Given the description of an element on the screen output the (x, y) to click on. 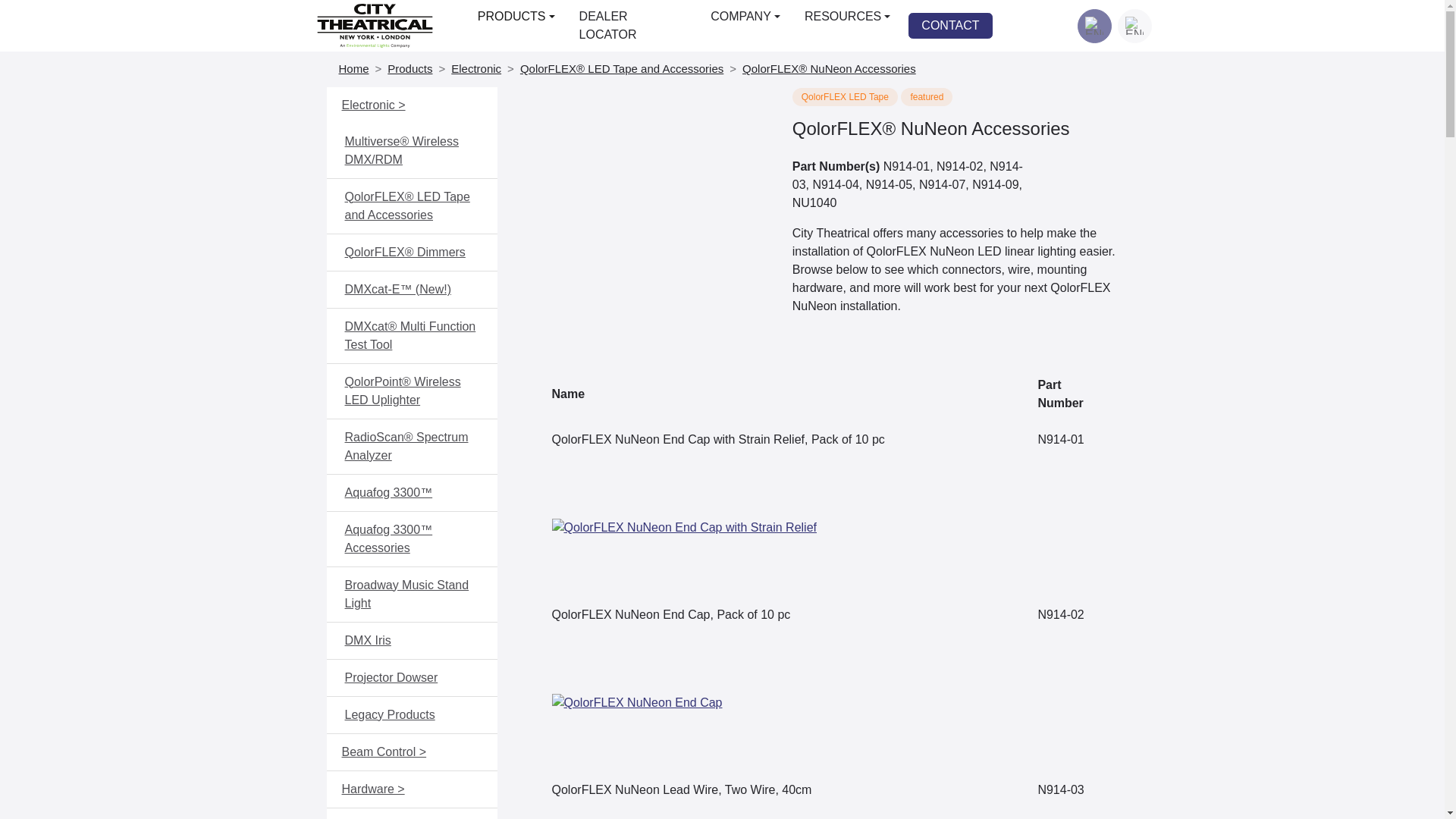
PRODUCTS (515, 16)
